Given the description of an element on the screen output the (x, y) to click on. 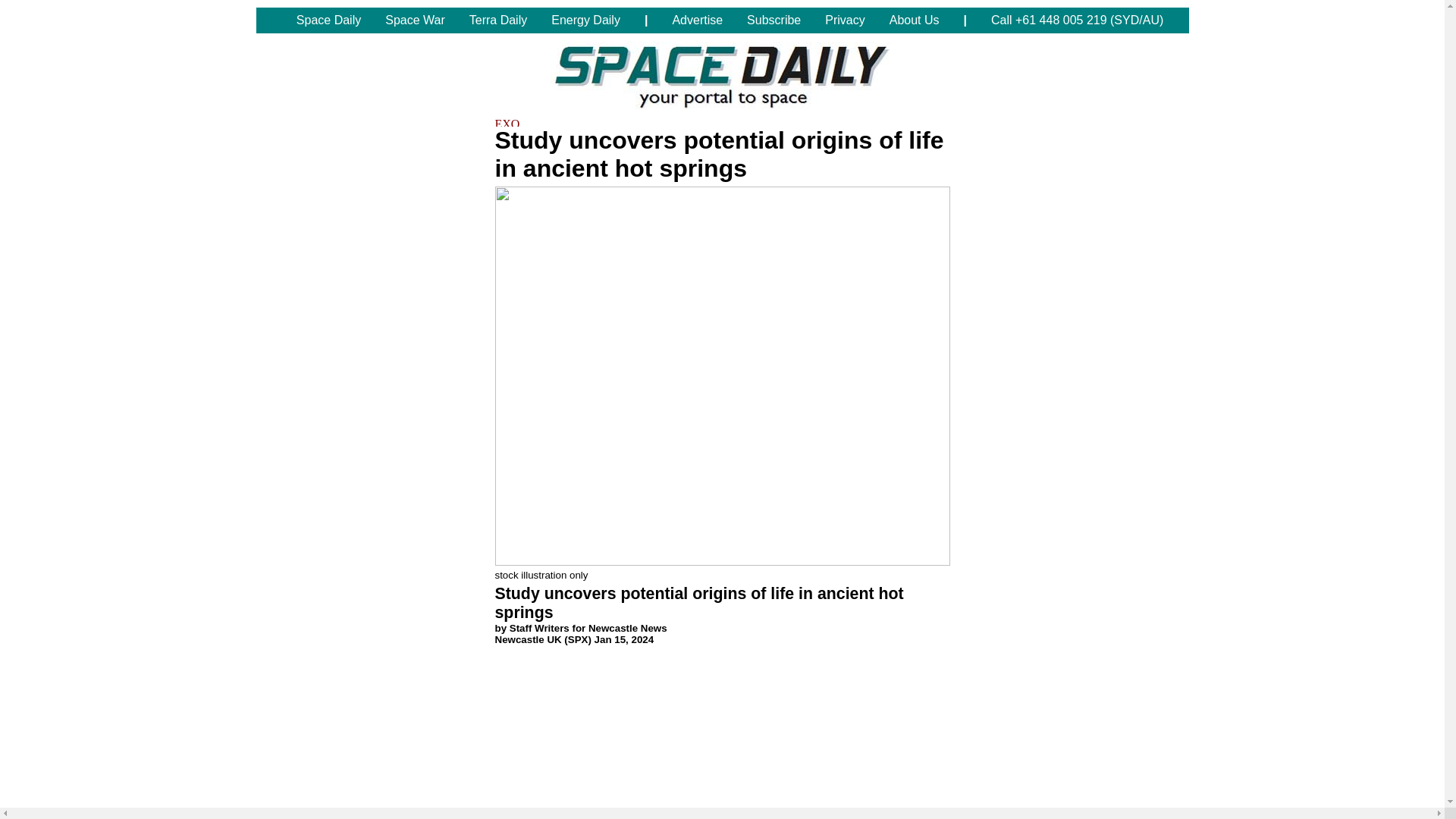
Subscribe (773, 20)
- (269, 20)
Advertise (697, 20)
Space Daily (327, 20)
Space War (414, 20)
Terra Daily (497, 20)
Privacy (844, 20)
Energy Daily (584, 20)
